Given the description of an element on the screen output the (x, y) to click on. 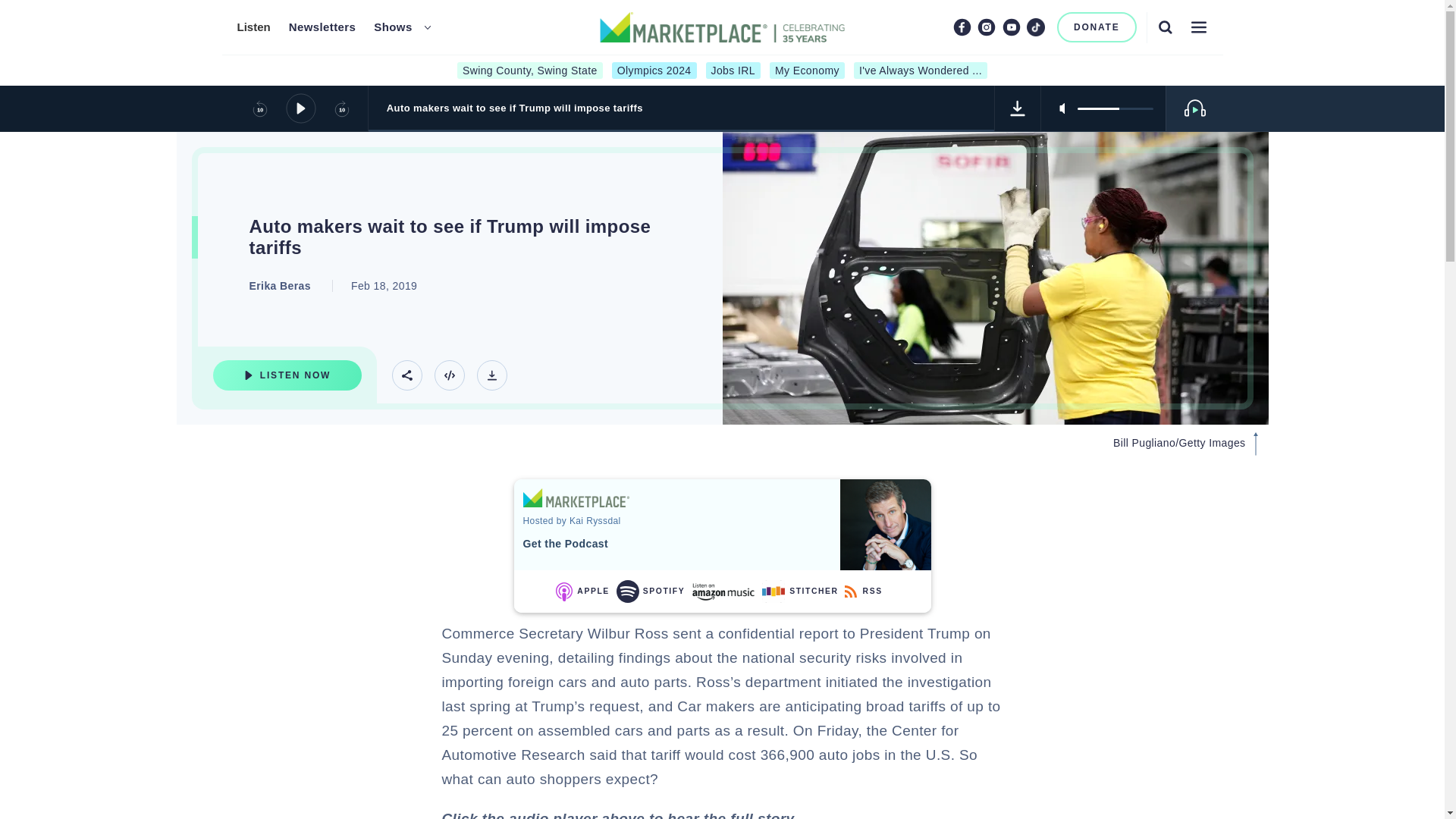
Download Track (1017, 108)
Youtube (1011, 27)
Listen Now (286, 374)
Shows (393, 26)
DONATE (1097, 27)
volume (1115, 108)
Marketplace (575, 497)
Menu (1198, 27)
Instagram (985, 27)
Facebook (962, 27)
